Given the description of an element on the screen output the (x, y) to click on. 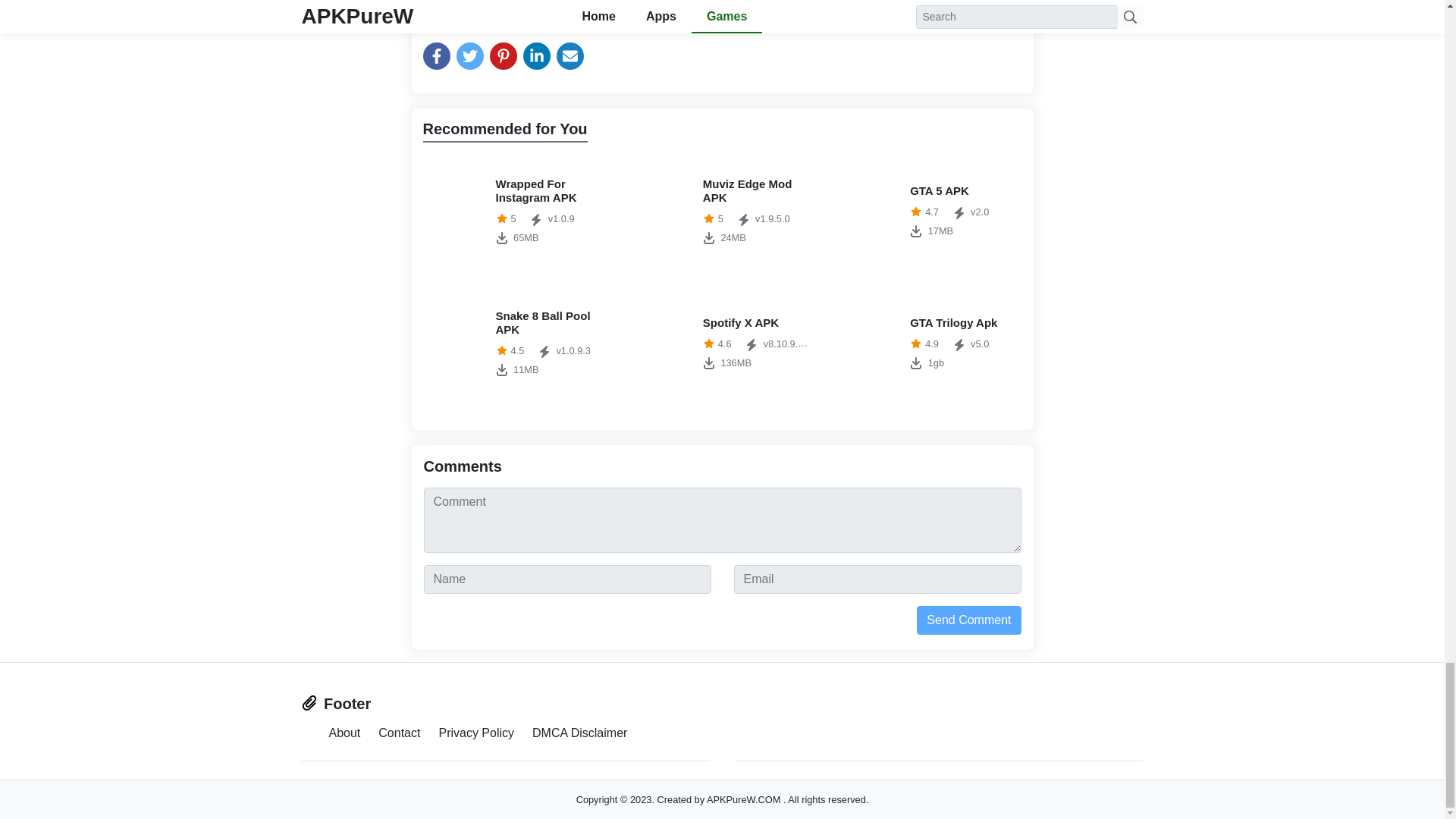
 GTA Trilogy Apk (929, 343)
 Muviz Edge Mod APK (721, 211)
 Wrapped For Instagram APK  (515, 211)
Send Comment (515, 343)
 GTA 5 APK (929, 343)
 Snake 8 Ball Pool APK  (515, 211)
Privacy Policy (968, 620)
Contact (721, 211)
 Spotify X APK (929, 211)
